Given the description of an element on the screen output the (x, y) to click on. 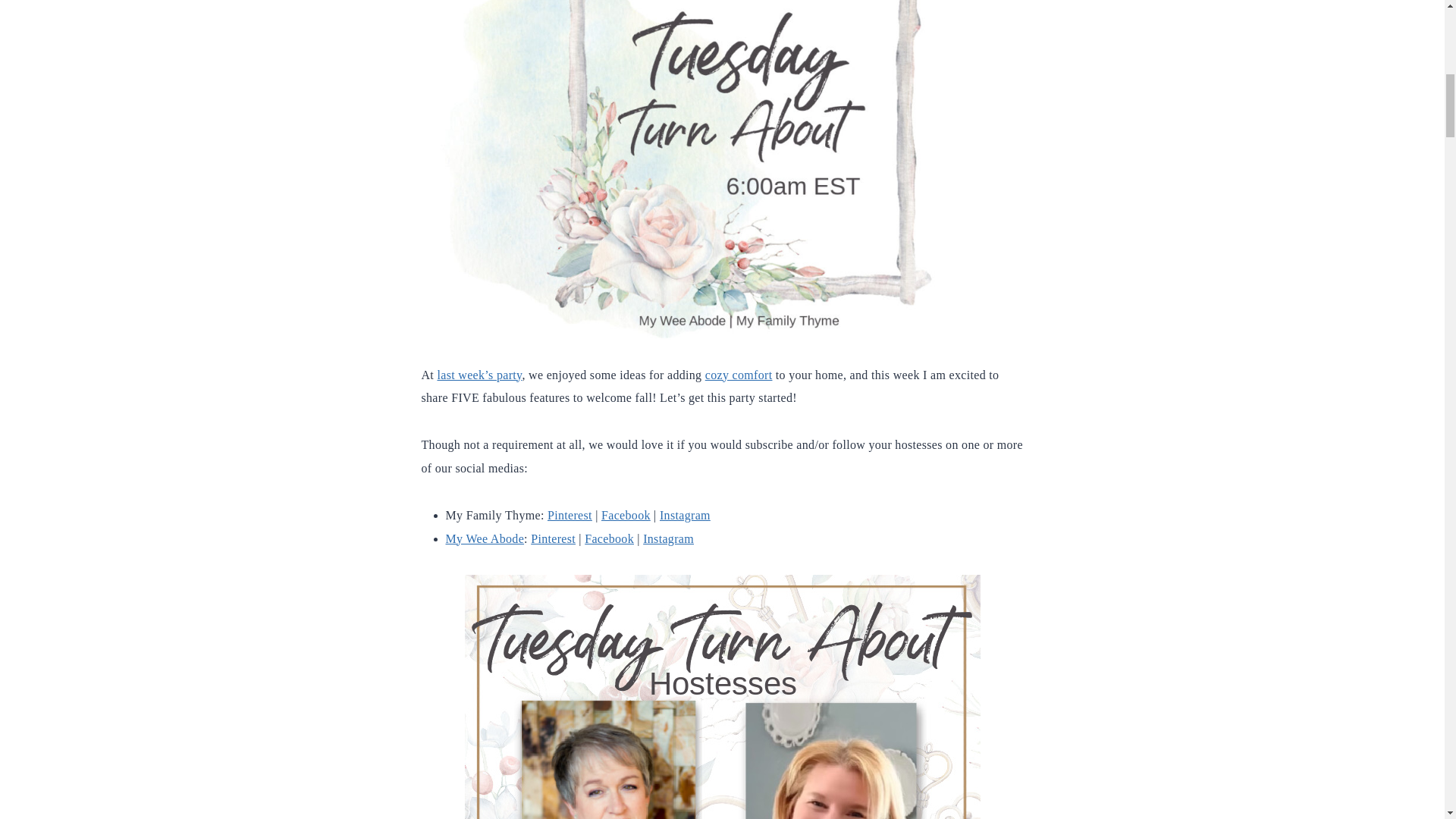
My Wee Abode (484, 538)
Instagram (668, 538)
Pinterest (569, 514)
Facebook (609, 538)
Pinterest (553, 538)
Facebook (625, 514)
cozy comfort (738, 374)
Instagram (684, 514)
